Given the description of an element on the screen output the (x, y) to click on. 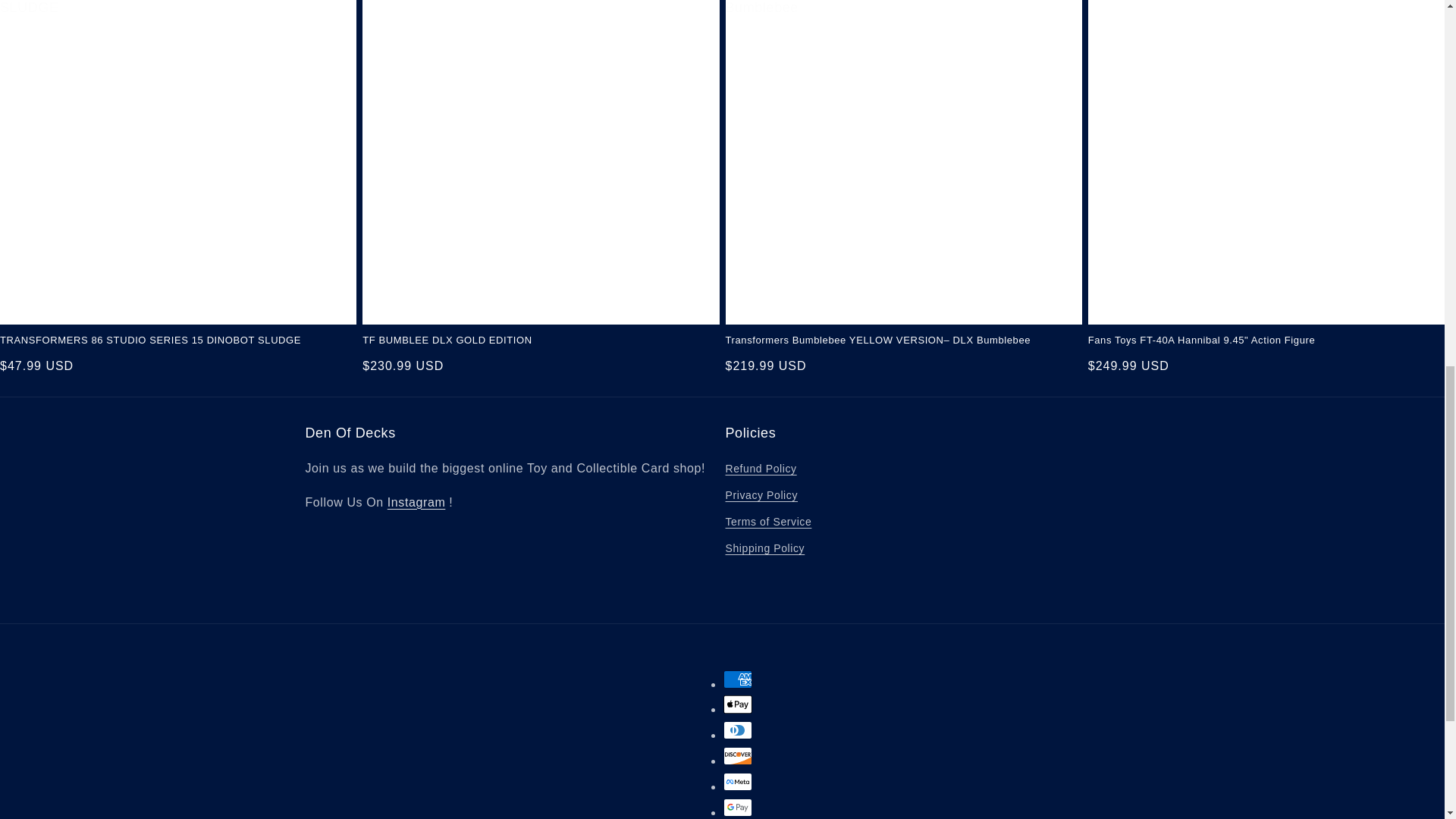
Diners Club (737, 730)
American Express (737, 679)
Apple Pay (737, 704)
Google Pay (737, 807)
Meta Pay (737, 782)
Discover (737, 755)
